Given the description of an element on the screen output the (x, y) to click on. 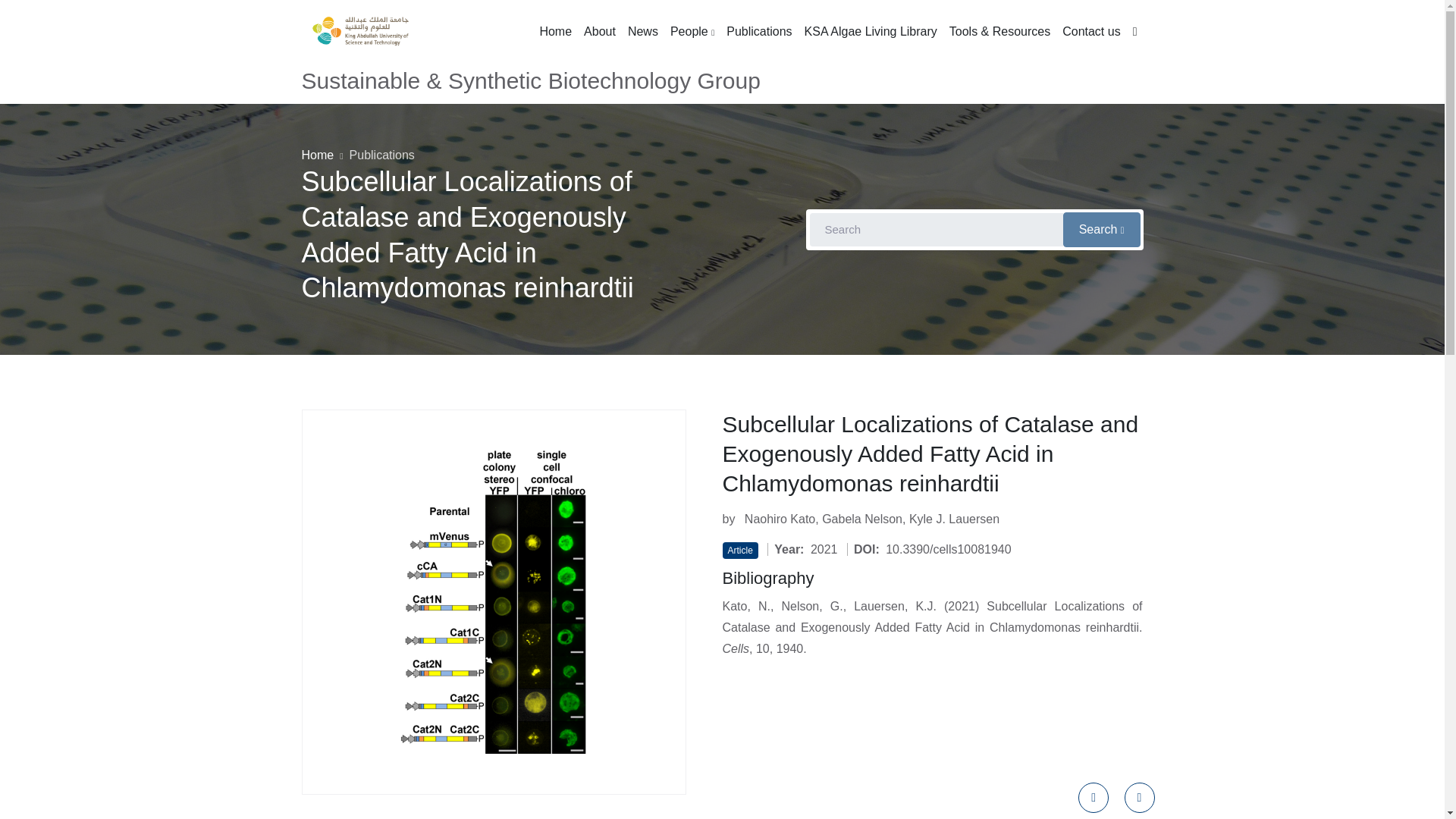
KSA Algae Living Library (870, 31)
Contact us (1091, 31)
Publications (381, 154)
Search input (935, 229)
Home (317, 154)
Publications (758, 31)
Home (555, 31)
News (642, 31)
Search (1101, 229)
People (691, 31)
About (599, 31)
